Given the description of an element on the screen output the (x, y) to click on. 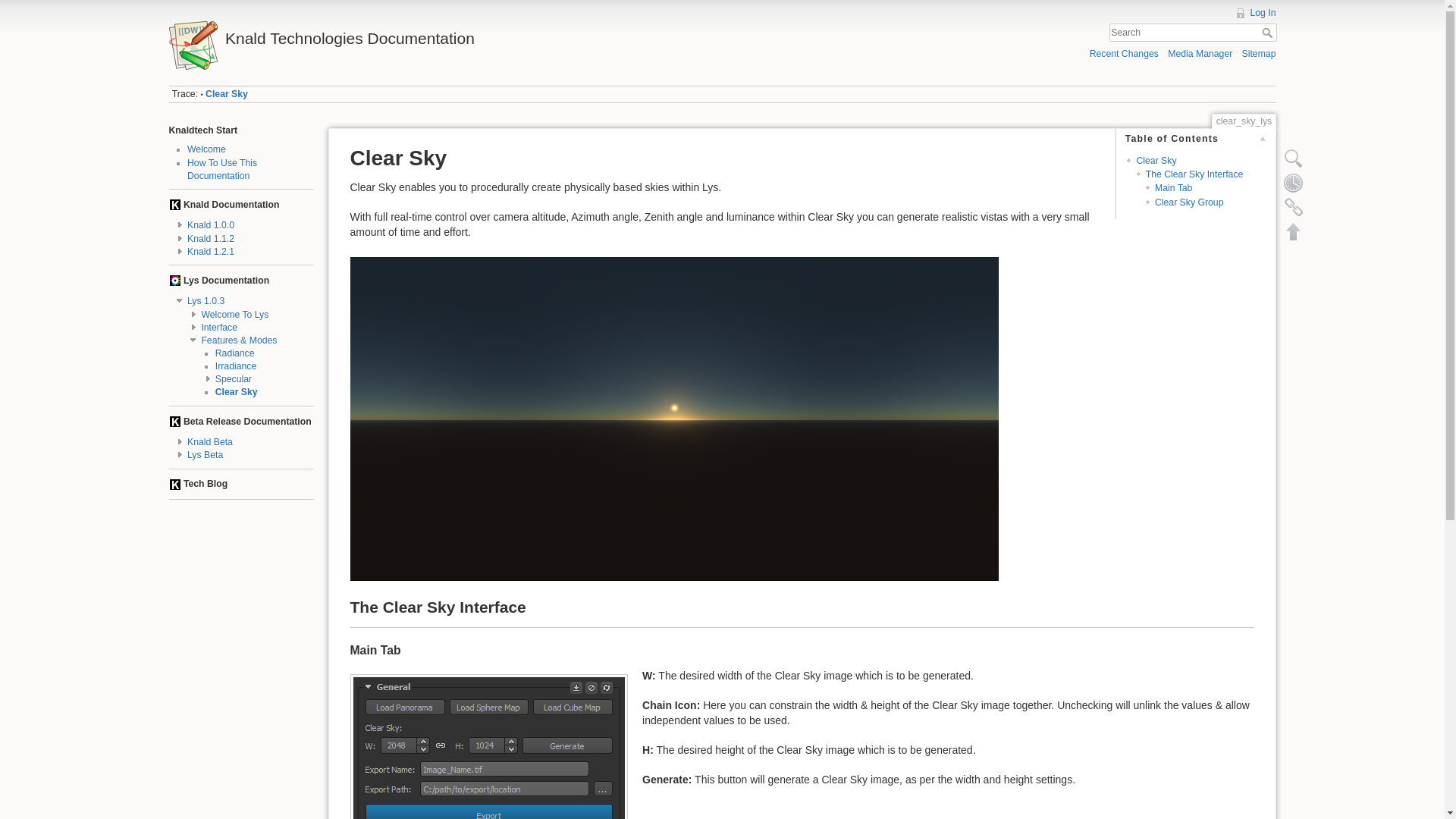
Search (1269, 32)
Welcome To Lys (233, 314)
Specular (233, 378)
Sitemap (1258, 53)
The Clear Sky Interface (1194, 173)
Recent Changes (1123, 53)
Clear Sky (236, 391)
Main Tab (1173, 187)
Search (1269, 32)
Lys Beta (204, 454)
